Given the description of an element on the screen output the (x, y) to click on. 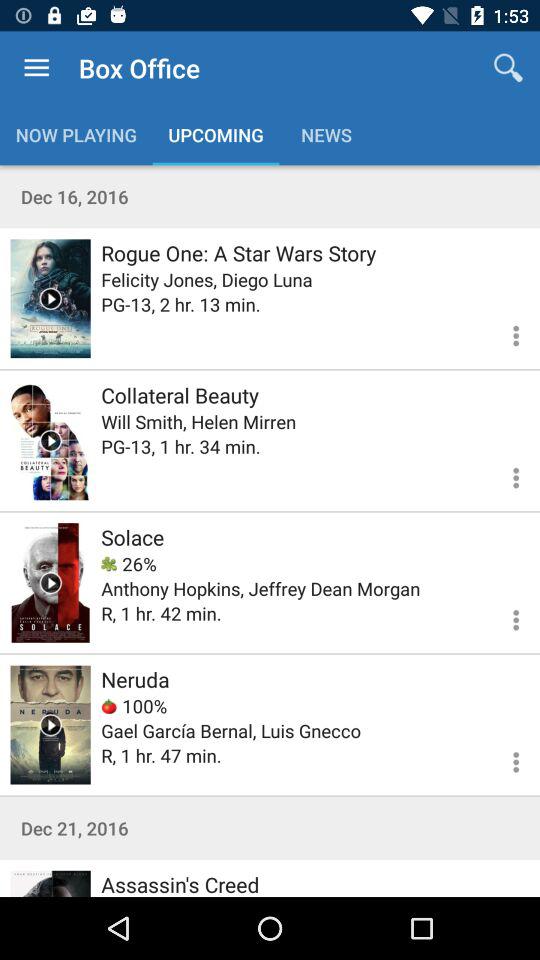
select movie to watch (50, 440)
